Given the description of an element on the screen output the (x, y) to click on. 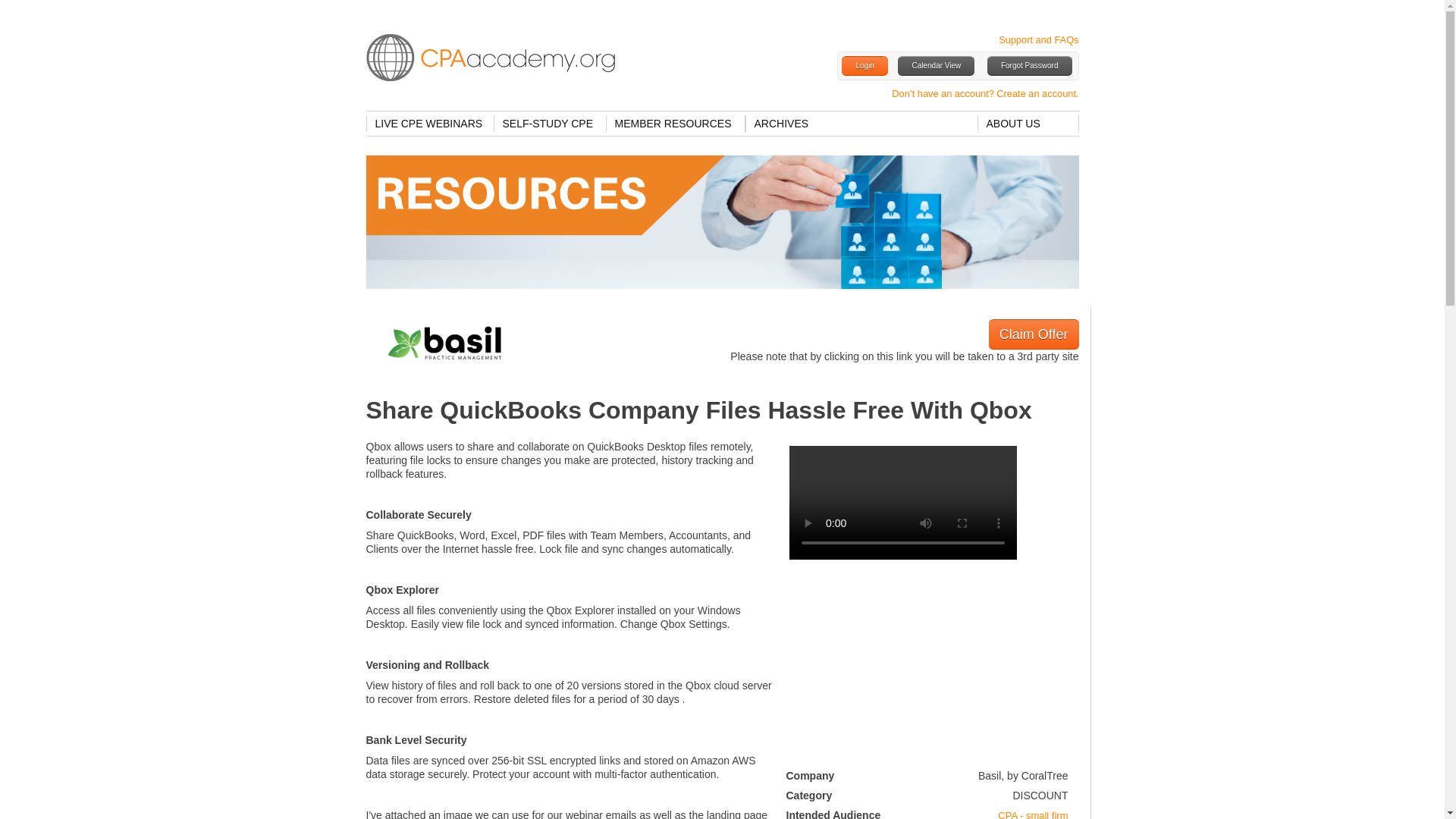
Login (863, 66)
CPA - small firm (1032, 814)
MEMBER RESOURCES (674, 123)
Calendar View (936, 66)
Forgot Password (1029, 66)
LIVE CPE WEBINARS (429, 123)
ABOUT US (1027, 123)
Support and FAQs (1038, 39)
Claim Offer (1033, 334)
ARCHIVES (781, 123)
SELF-STUDY CPE (549, 123)
